Given the description of an element on the screen output the (x, y) to click on. 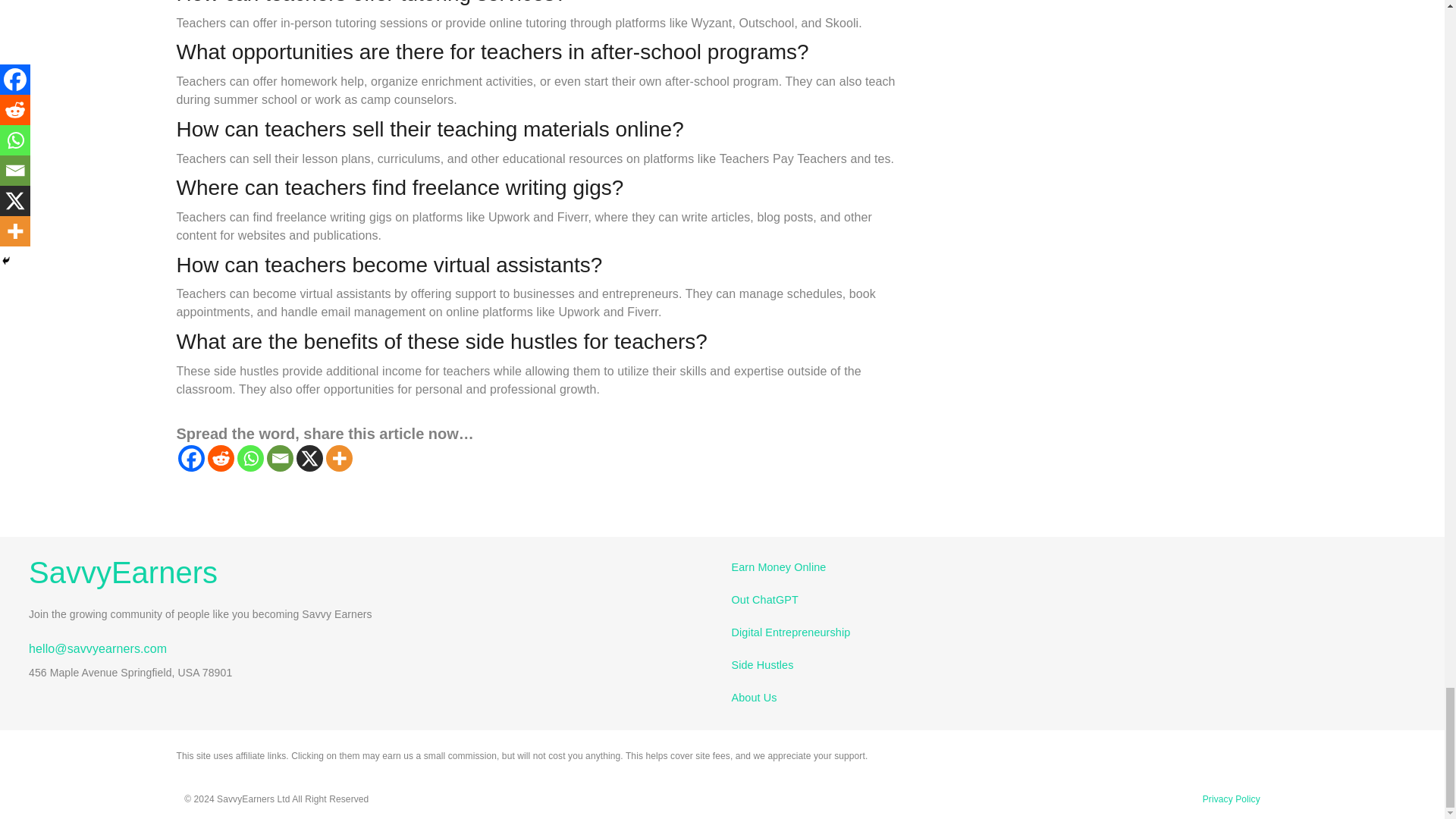
Whatsapp (249, 458)
Reddit (221, 458)
X (308, 458)
More (339, 458)
Facebook (190, 458)
Email (280, 458)
